Given the description of an element on the screen output the (x, y) to click on. 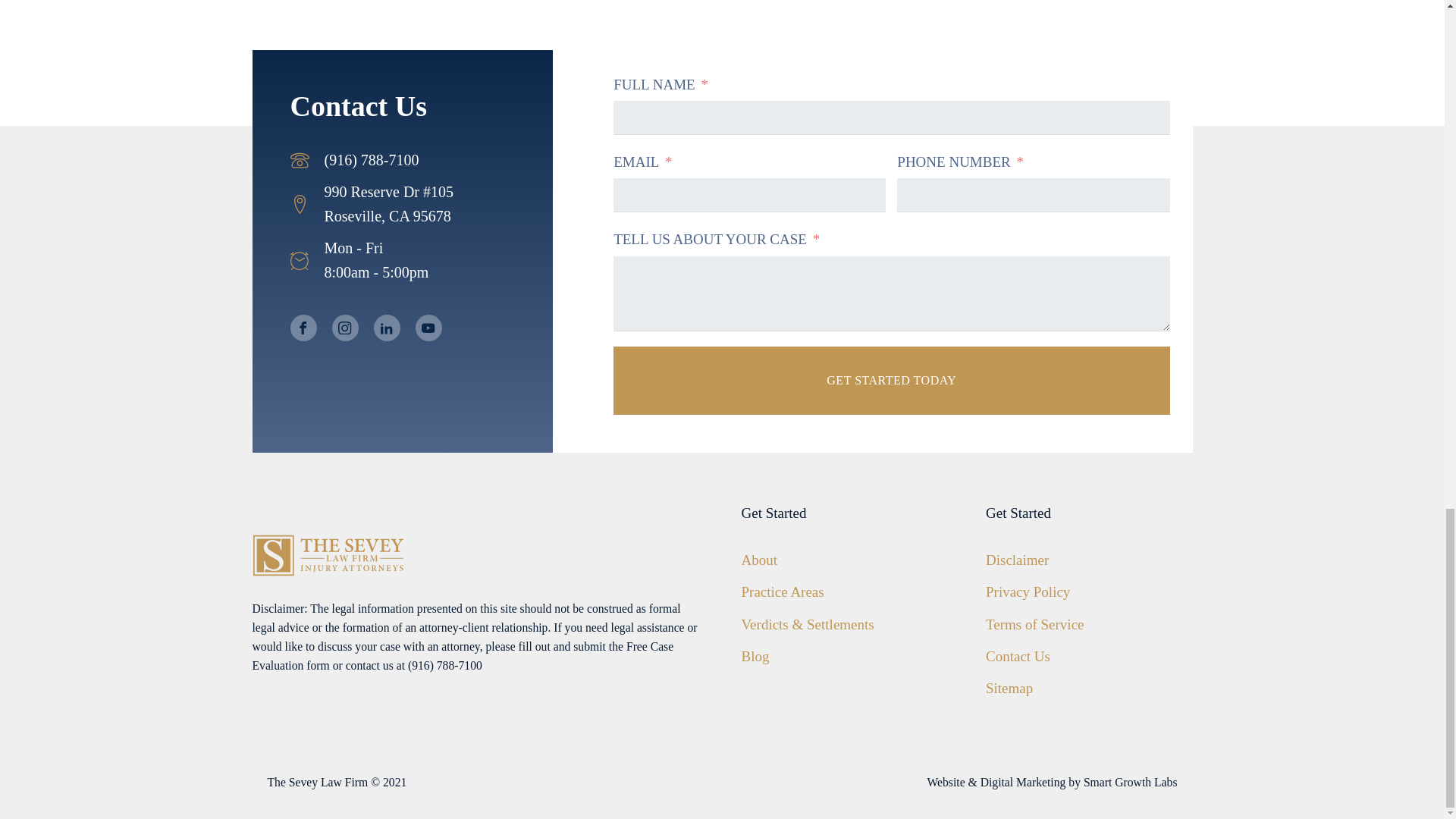
Practice Areas (782, 591)
Disclaimer (1016, 559)
Terms of Service (1034, 624)
Sitemap (1008, 688)
About (759, 559)
Contact Us (1017, 656)
Blog (755, 656)
Privacy Policy (1027, 591)
GET STARTED TODAY (890, 380)
